Given the description of an element on the screen output the (x, y) to click on. 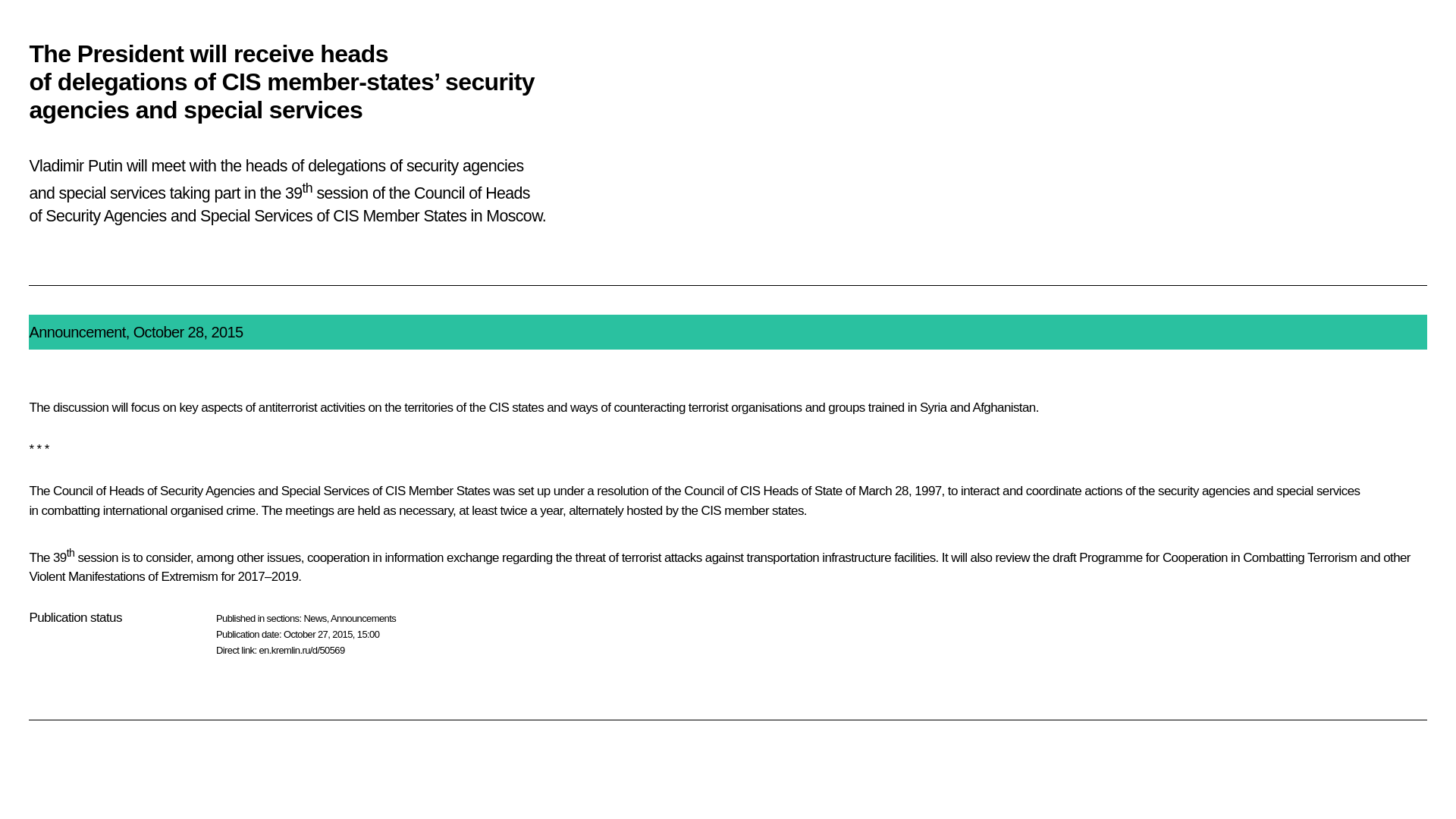
News (315, 618)
